Given the description of an element on the screen output the (x, y) to click on. 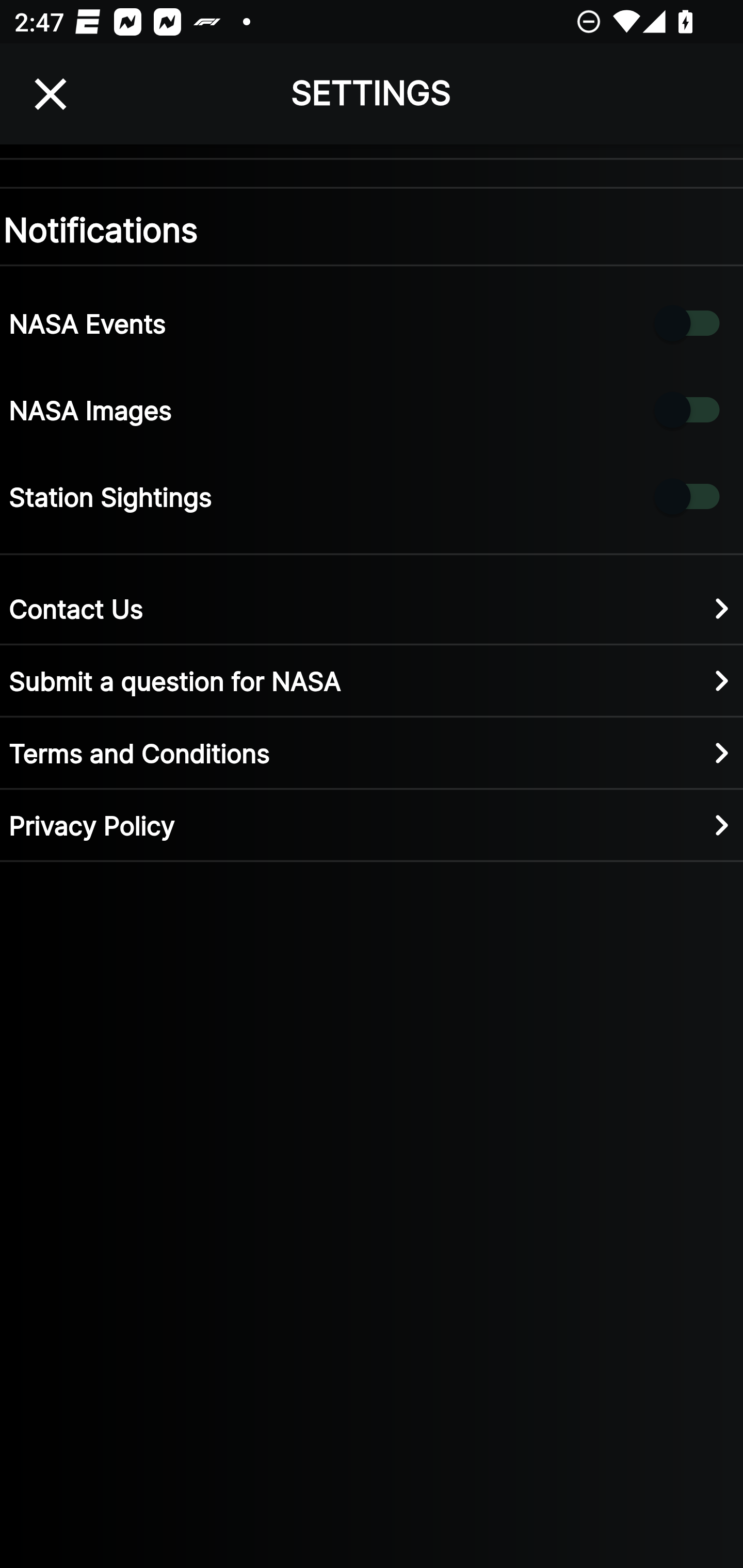
Contact Us (371, 608)
Submit a question for NASA (371, 680)
Terms and Conditions (371, 752)
Privacy Policy (371, 824)
